Given the description of an element on the screen output the (x, y) to click on. 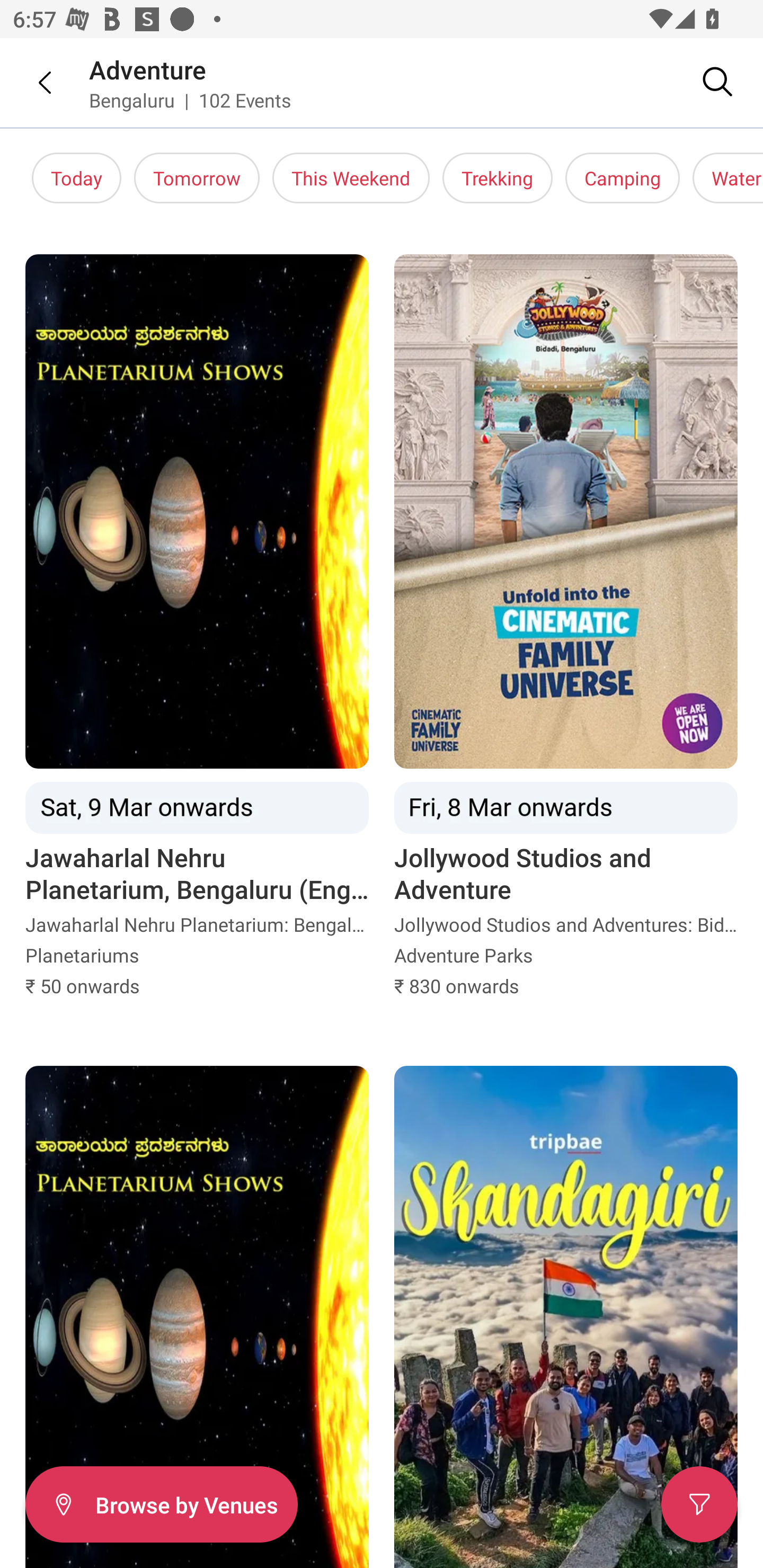
Back (31, 82)
Adventure (147, 68)
Bengaluru  |  102 Events (190, 99)
Today (76, 177)
Tomorrow (196, 177)
This Weekend (350, 177)
Trekking (497, 177)
Camping (622, 177)
Filter Browse by Venues (161, 1504)
Filter (699, 1504)
